Given the description of an element on the screen output the (x, y) to click on. 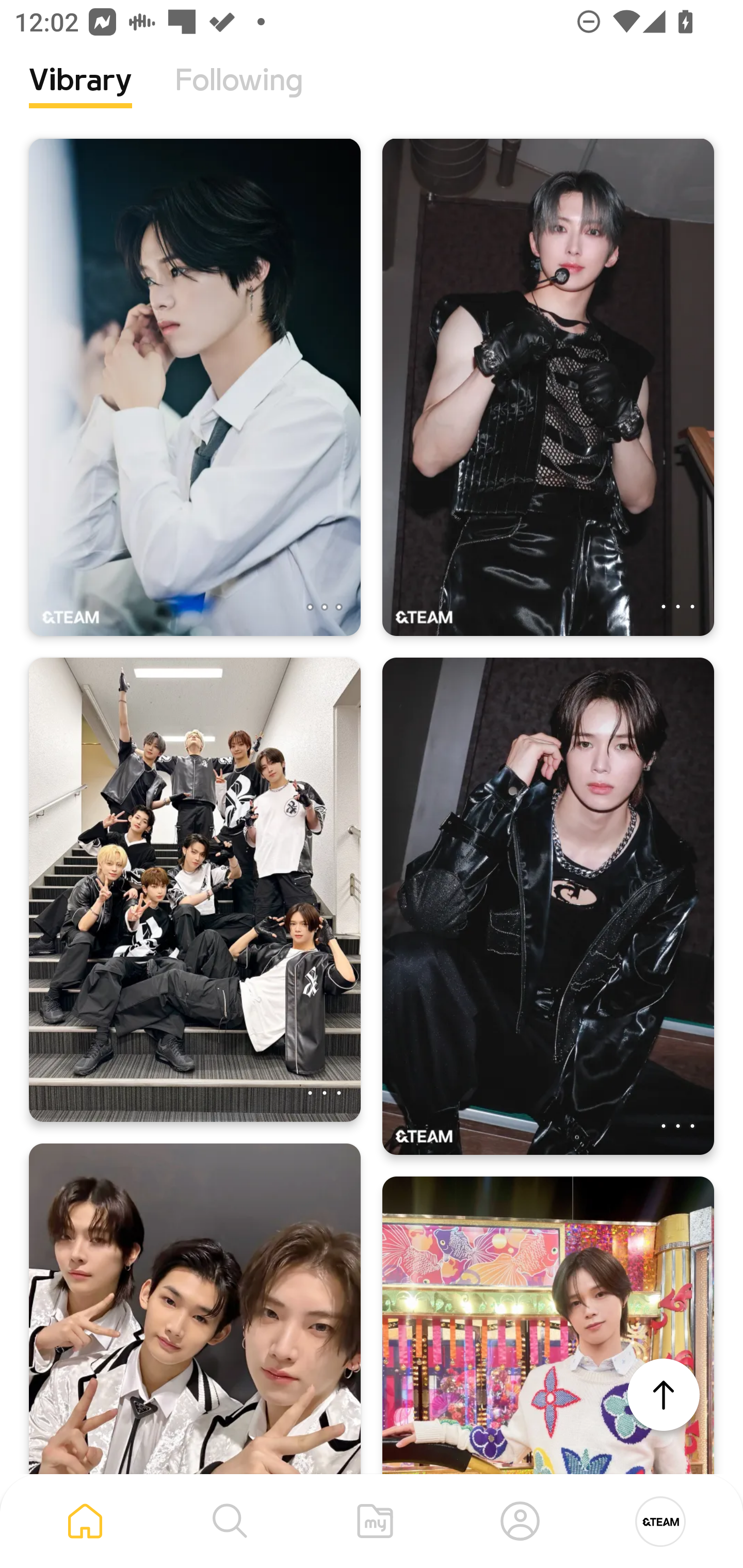
Vibrary (80, 95)
Following (239, 95)
